Given the description of an element on the screen output the (x, y) to click on. 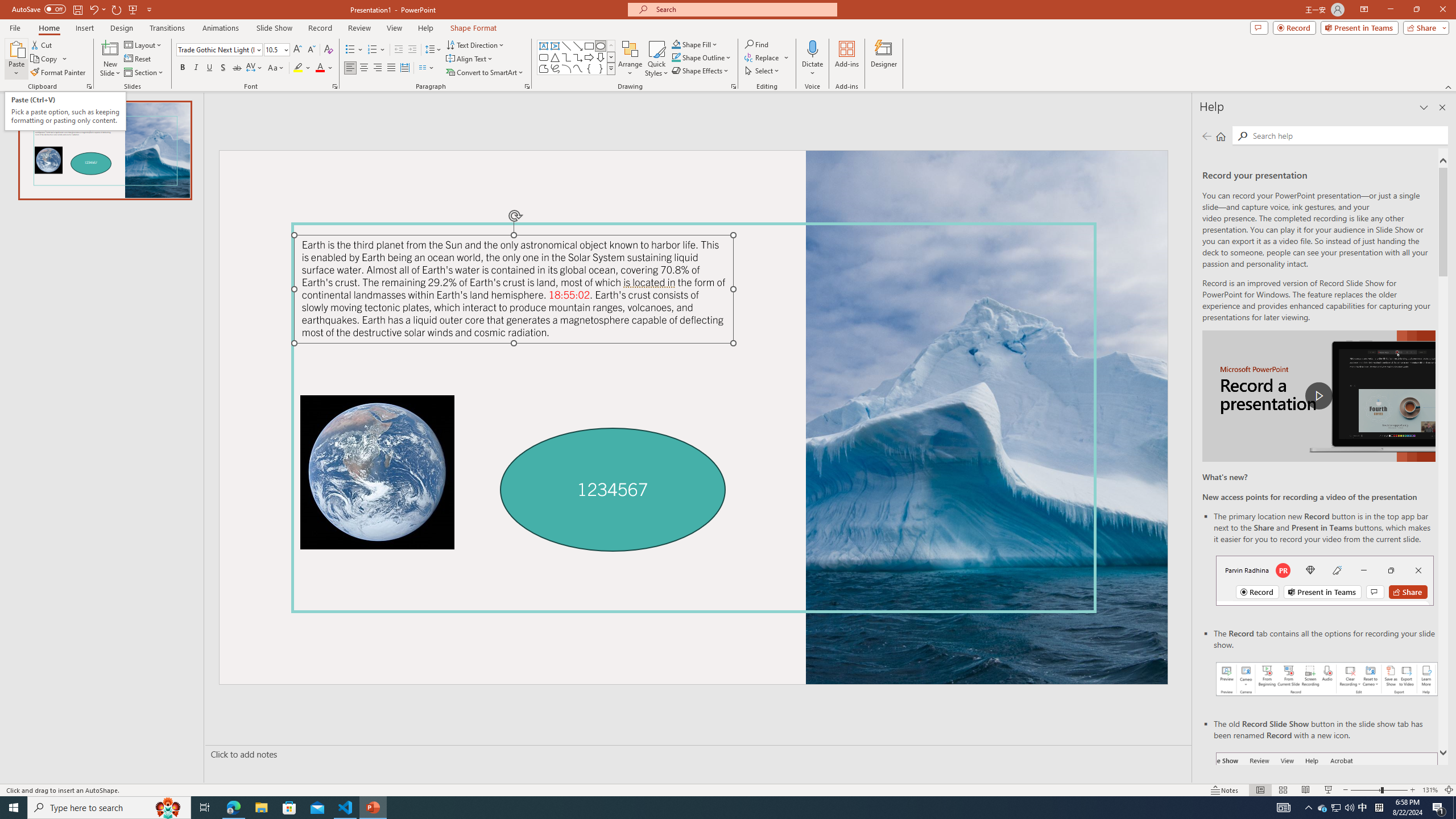
Zoom 131% (1430, 790)
